Given the description of an element on the screen output the (x, y) to click on. 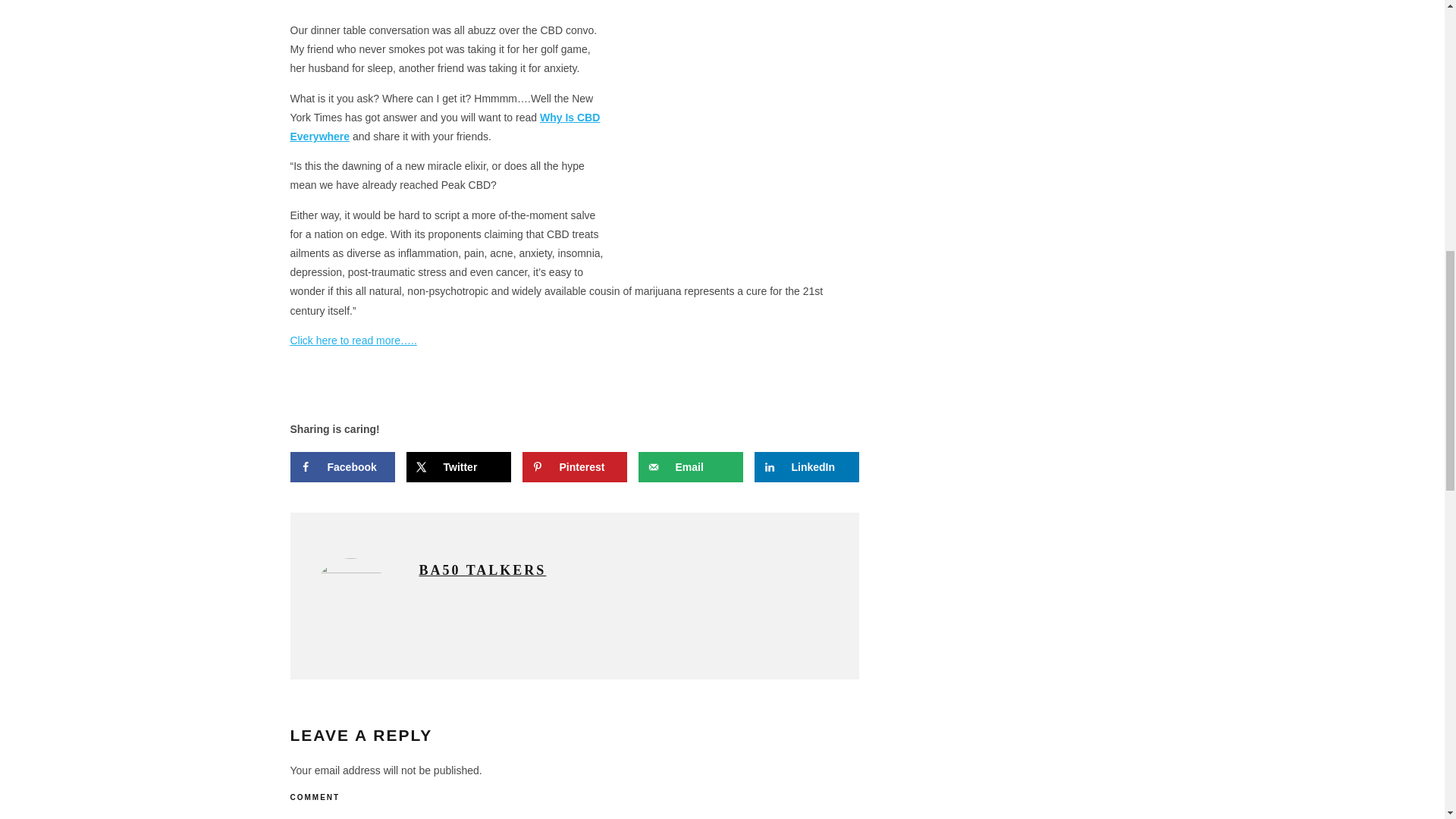
Send over email (690, 467)
Share on LinkedIn (806, 467)
Save to Pinterest (573, 467)
Share on Facebook (341, 467)
Share on X (458, 467)
